Given the description of an element on the screen output the (x, y) to click on. 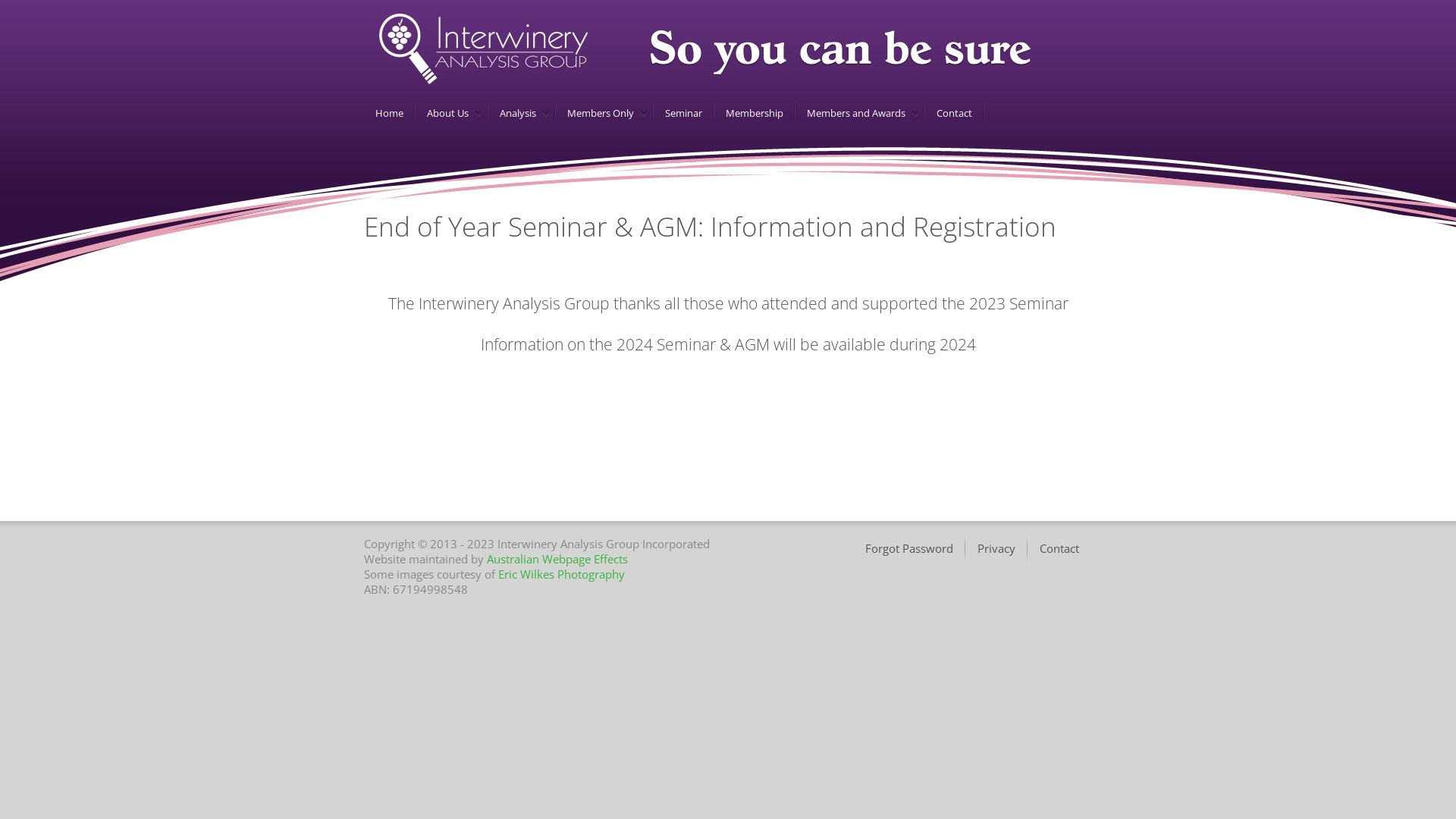
Privacy Element type: text (997, 548)
About Us Element type: text (444, 112)
Contact Element type: text (951, 112)
Home Element type: text (386, 112)
Contact Element type: text (1060, 548)
Membership Element type: text (751, 112)
Analysis Element type: text (515, 112)
Forgot Password Element type: text (909, 548)
Eric Wilkes Photography Element type: text (561, 573)
Seminar Element type: text (680, 112)
Interwinery Analysis Group Element type: text (483, 48)
Members Only Element type: text (597, 112)
Australian Webpage Effects Element type: text (556, 558)
Members and Awards Element type: text (853, 112)
